Given the description of an element on the screen output the (x, y) to click on. 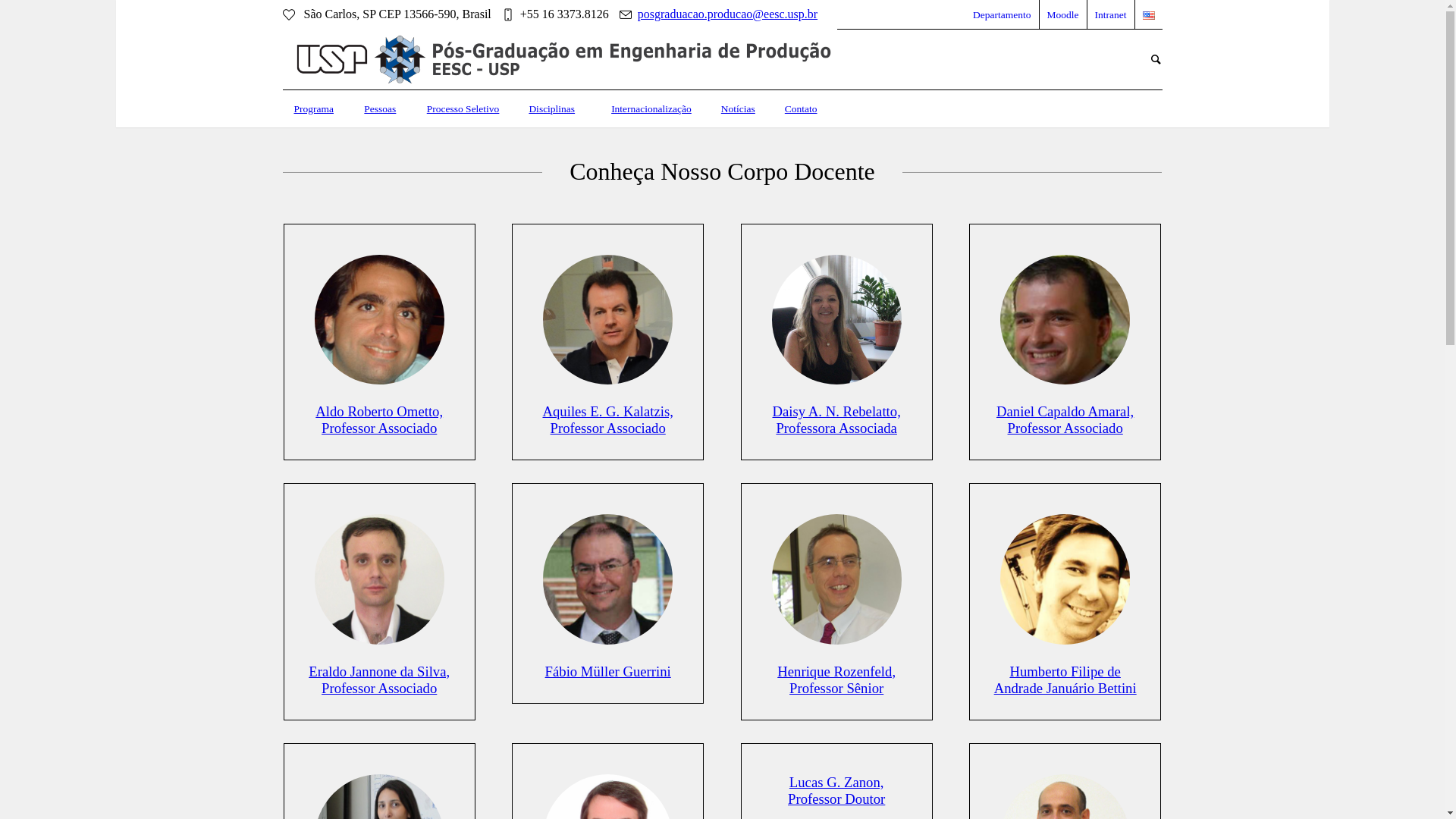
Daisy A. N. Rebelatto, Professora Associada Element type: text (835, 419)
Processo Seletivo Element type: text (463, 108)
Lucas G. Zanon, Professor Doutor Element type: text (835, 790)
Disciplinas Element type: text (551, 108)
Programa Element type: text (313, 108)
Daniel Capaldo Amaral, Professor Associado Element type: hover (1064, 319)
Contato Element type: text (800, 108)
Eraldo Jannone da Silva, Professor Associado Element type: hover (379, 578)
Departamento Element type: text (1001, 14)
Aldo Roberto Ometto, Professor Associado Element type: text (378, 419)
Daisy A. N. Rebelatto, Professora Associada Element type: hover (836, 319)
Eraldo Jannone da Silva, Professor Associado Element type: text (378, 679)
Aquiles E. G. Kalatzis, Professor Associado Element type: text (607, 419)
Pessoas Element type: text (379, 108)
Daniel Capaldo Amaral, Professor Associado Element type: text (1064, 419)
Aldo Roberto Ometto, Professor Associado Element type: hover (379, 319)
Aquiles E. G. Kalatzis, Professor Associado Element type: hover (607, 319)
posgraduacao.producao@eesc.usp.br Element type: text (727, 13)
Intranet Element type: text (1110, 14)
Moodle Element type: text (1062, 14)
